Given the description of an element on the screen output the (x, y) to click on. 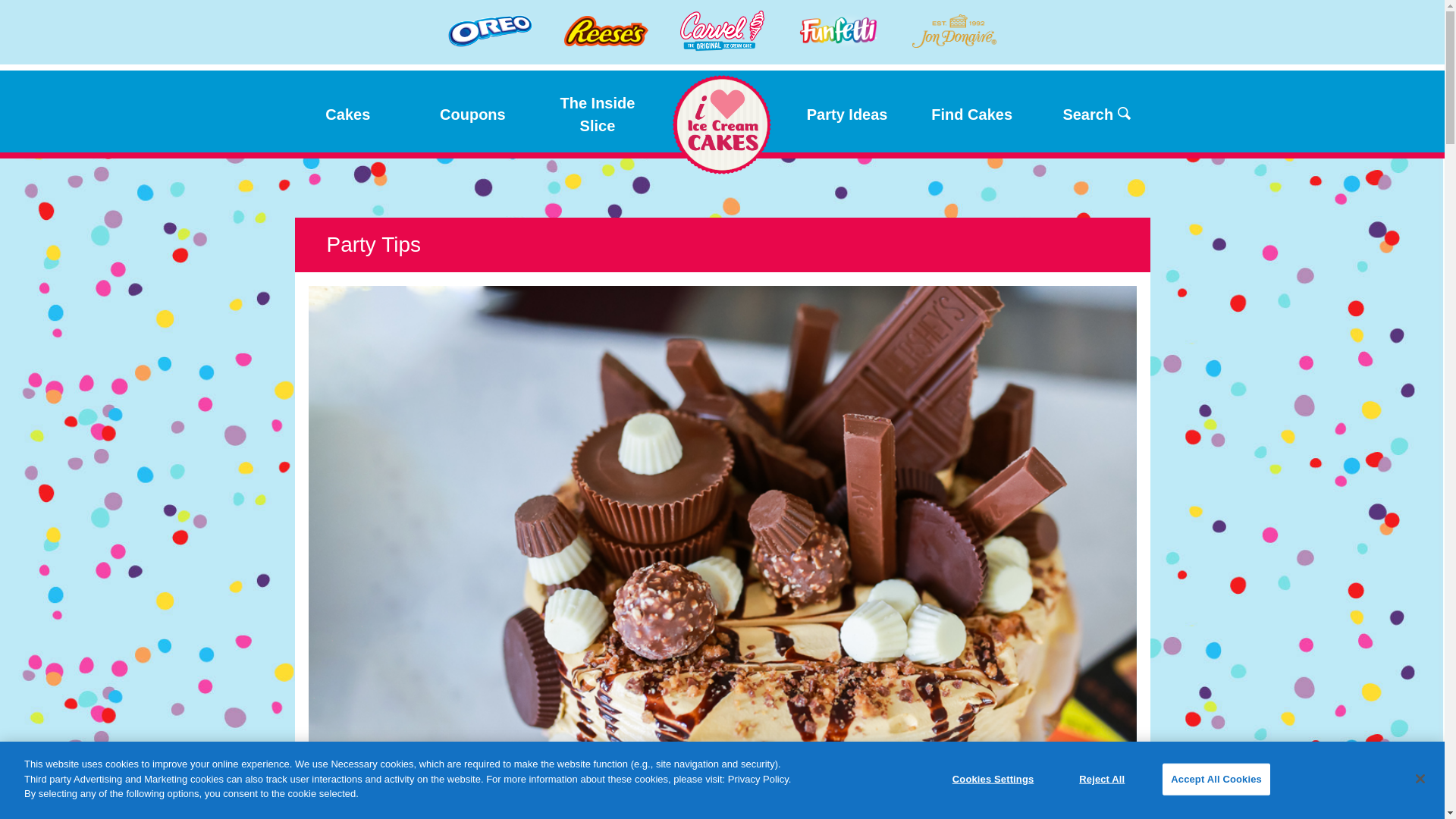
Coupons (472, 110)
The Inside Slice (597, 111)
Party Ideas (847, 110)
Cakes (347, 110)
Submit (1078, 112)
Find Cakes (971, 110)
Search (1096, 110)
